Given the description of an element on the screen output the (x, y) to click on. 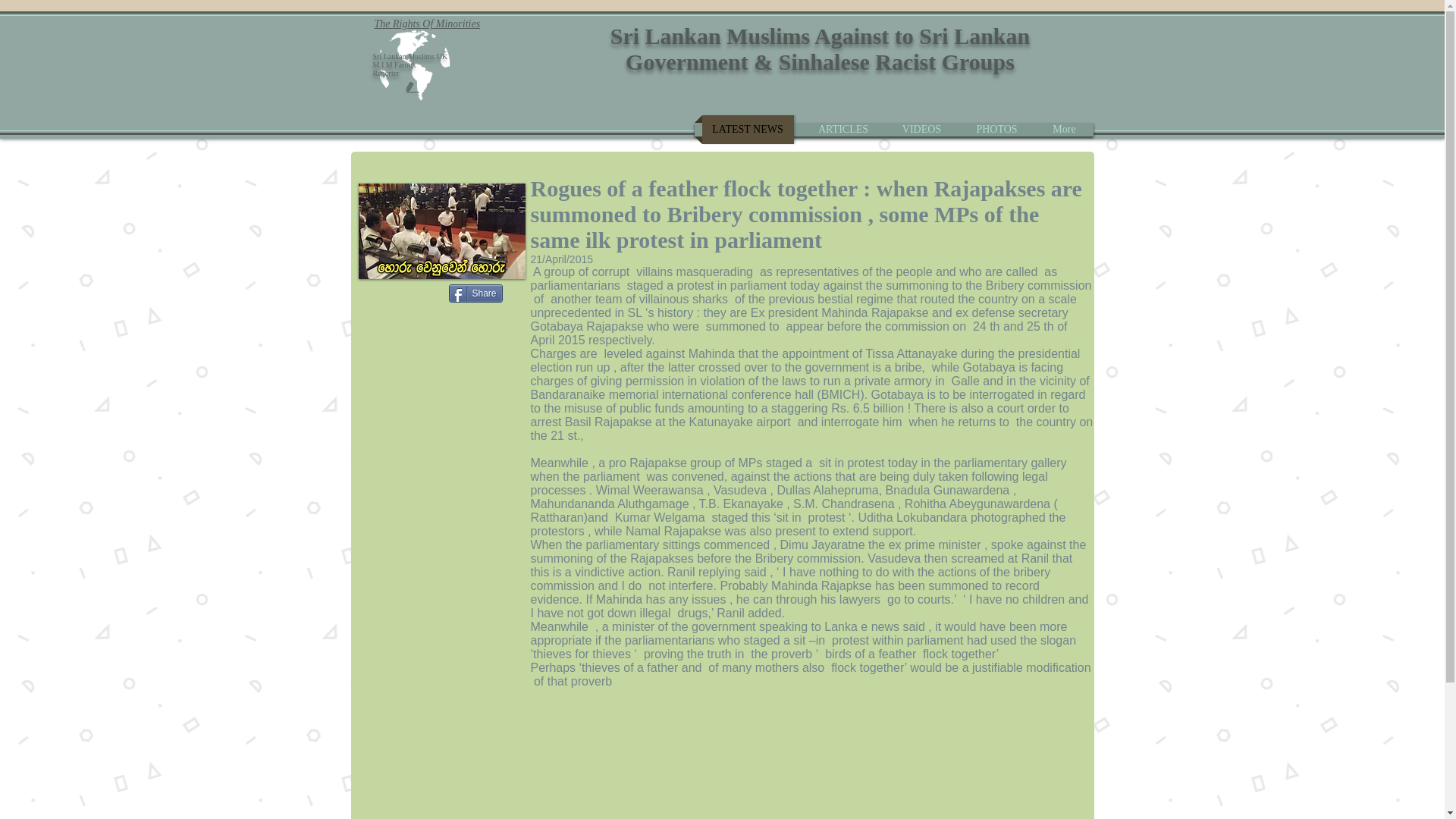
LATEST NEWS (748, 129)
Share (475, 293)
Twitter Tweet (395, 294)
